Given the description of an element on the screen output the (x, y) to click on. 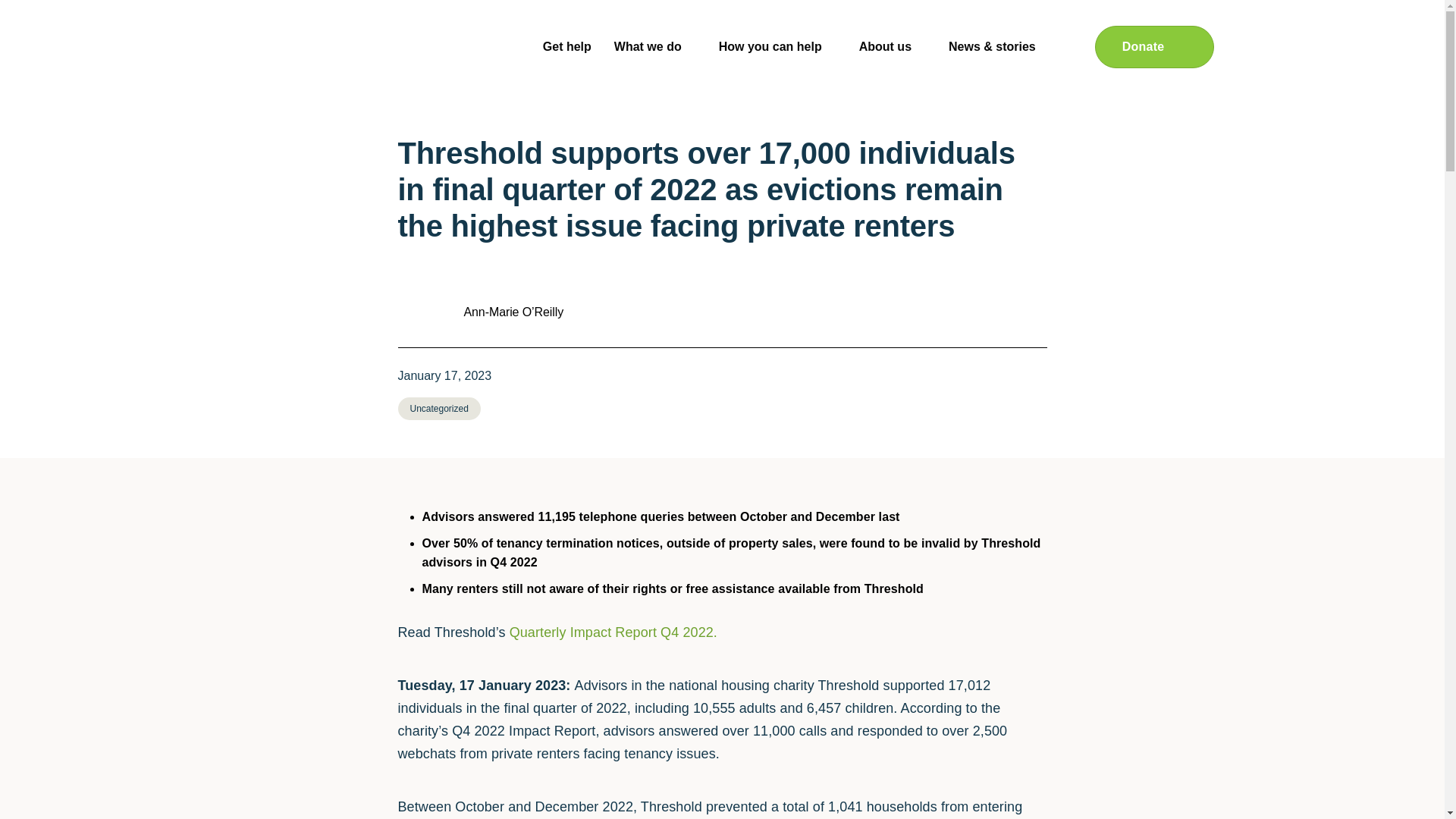
Search (1074, 46)
What we do (654, 46)
Donate (1154, 46)
Get help (566, 46)
Quarterly Impact Report Q4 2022. (613, 631)
About us (892, 46)
How you can help (778, 46)
